Given the description of an element on the screen output the (x, y) to click on. 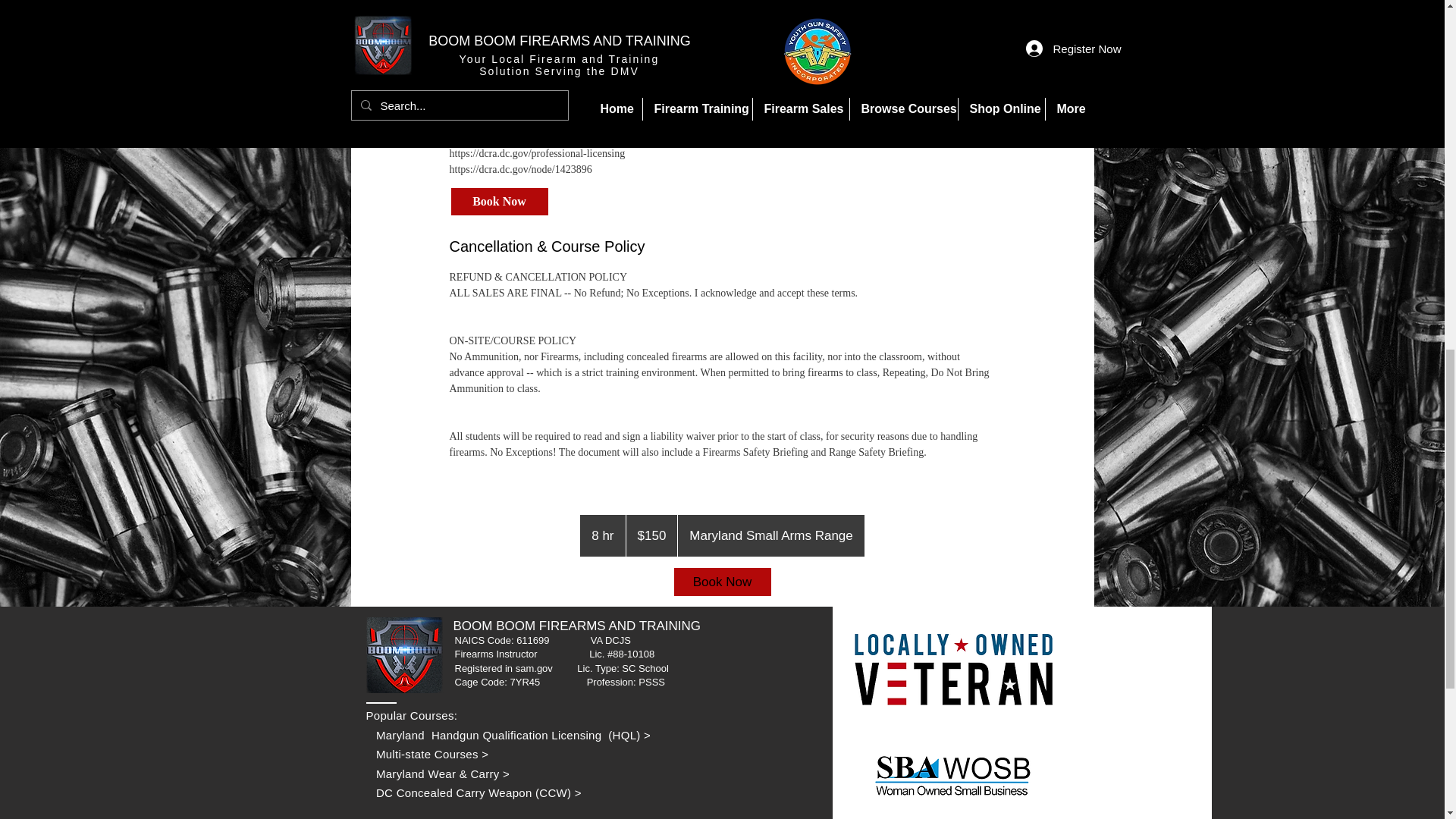
Veteran Owned.png (952, 762)
Veteran Owned.png (952, 682)
Book Now (721, 581)
Book Now (498, 201)
Popular Courses: (411, 715)
